Given the description of an element on the screen output the (x, y) to click on. 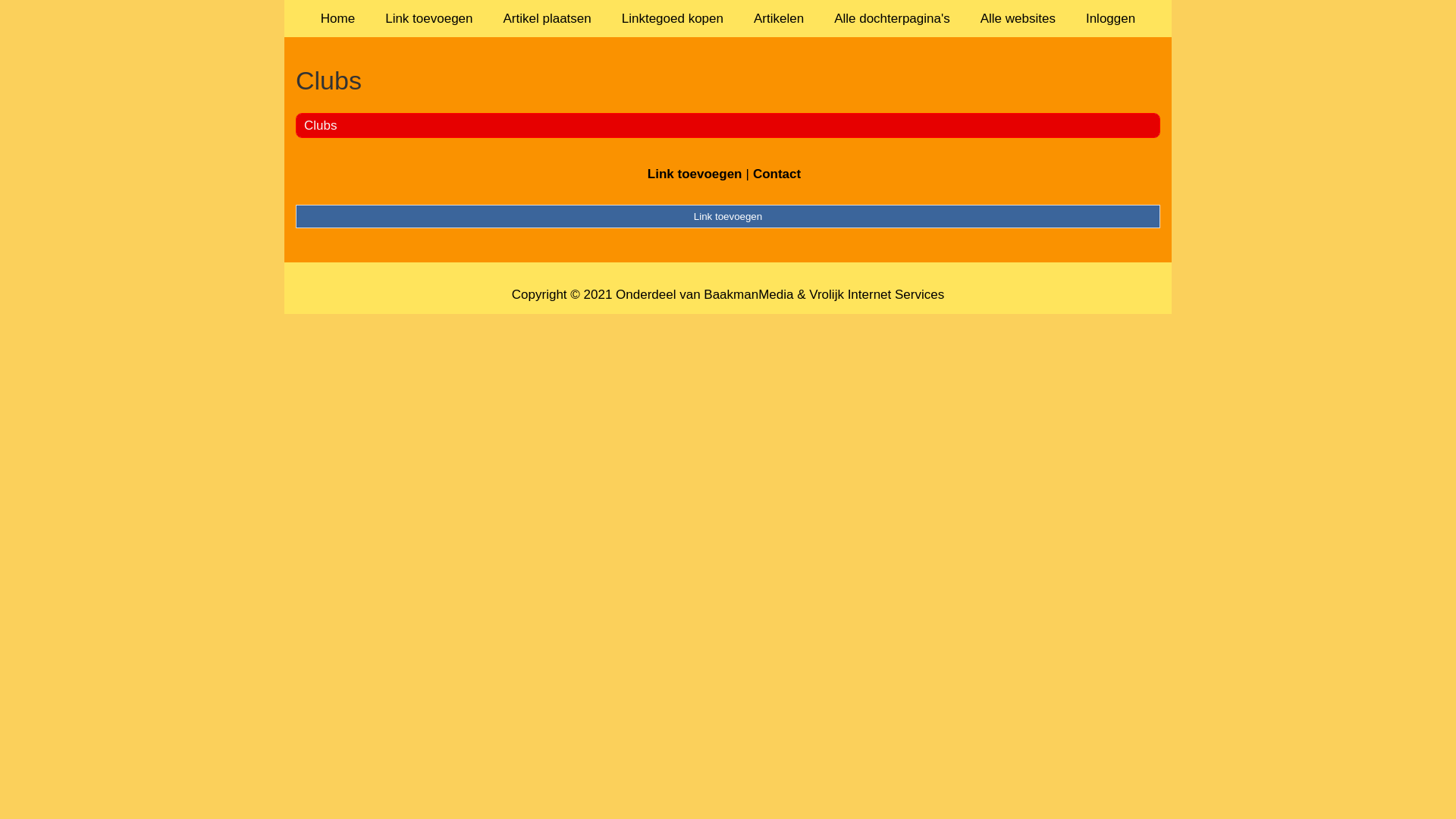
BaakmanMedia Element type: text (748, 294)
Link toevoegen Element type: text (694, 173)
Linktegoed kopen Element type: text (672, 18)
Vrolijk Internet Services Element type: text (876, 294)
Contact Element type: text (776, 173)
Alle websites Element type: text (1017, 18)
Clubs Element type: text (727, 80)
Inloggen Element type: text (1110, 18)
Link toevoegen Element type: text (428, 18)
Clubs Element type: text (320, 125)
Artikelen Element type: text (778, 18)
Artikel plaatsen Element type: text (547, 18)
Link toevoegen Element type: text (727, 215)
Home Element type: text (337, 18)
Alle dochterpagina's Element type: text (892, 18)
